Given the description of an element on the screen output the (x, y) to click on. 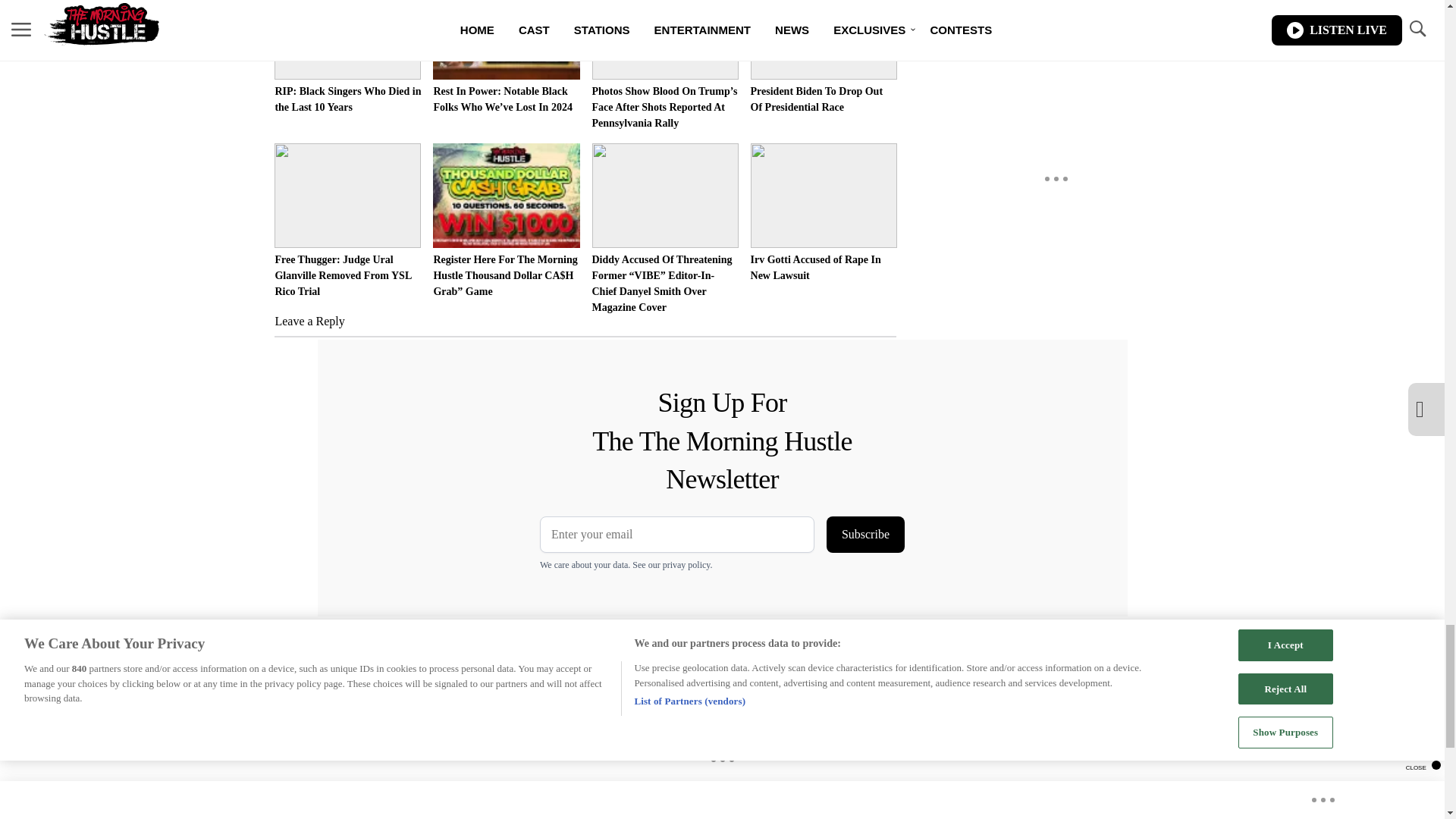
President Biden To Drop Out Of Presidential Race (823, 57)
RIP: Black Singers Who Died in the Last 10 Years (347, 57)
